Given the description of an element on the screen output the (x, y) to click on. 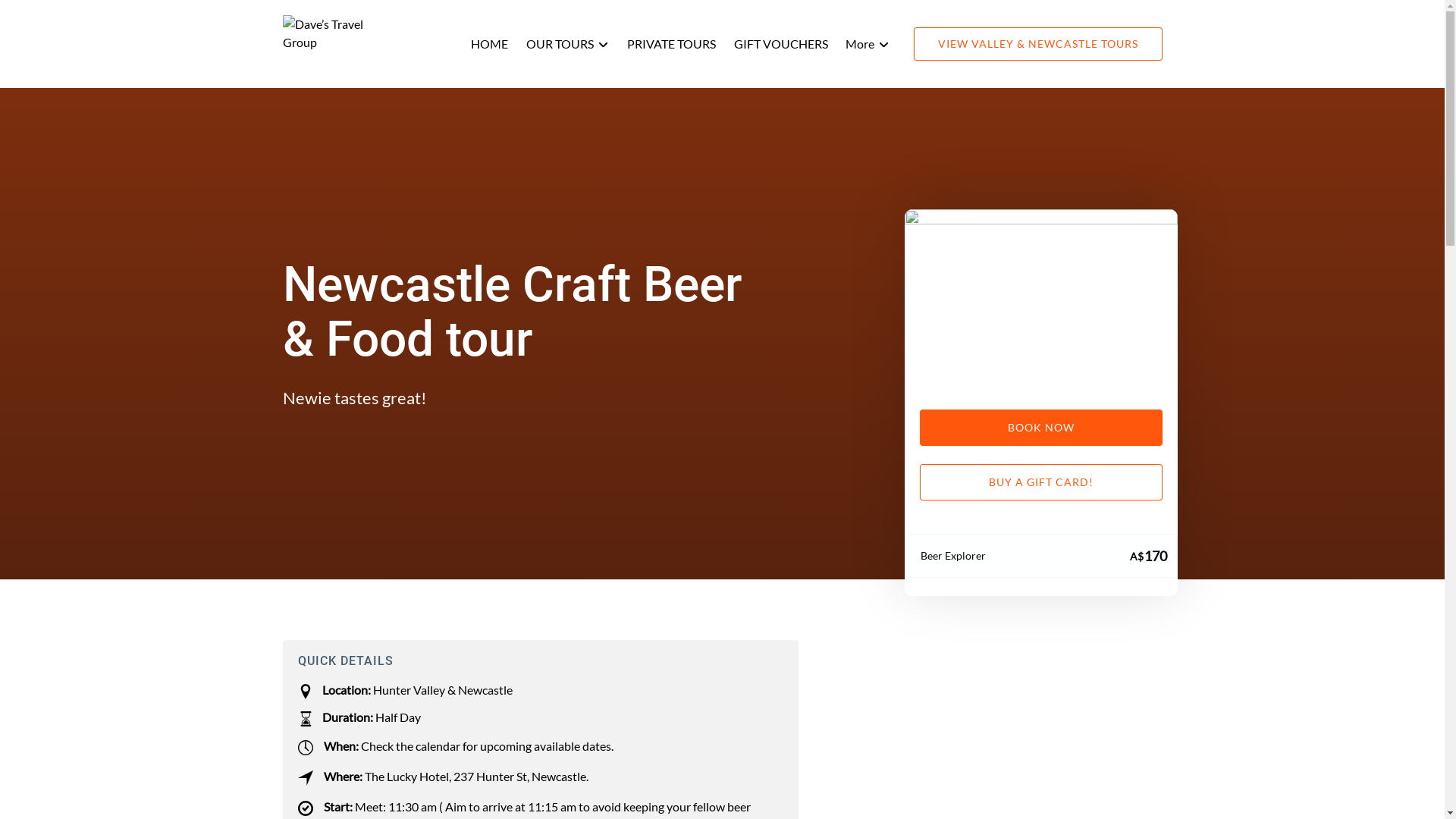
BOOK NOW Element type: text (1040, 427)
OUR TOURS Element type: text (567, 43)
GIFT VOUCHERS Element type: text (780, 43)
BUY A GIFT CARD! Element type: text (1040, 482)
Skip to content Element type: text (46, 16)
VIEW VALLEY & NEWCASTLE TOURS Element type: text (1037, 43)
PRIVATE TOURS Element type: text (670, 43)
More Element type: text (866, 43)
HOME Element type: text (488, 43)
Skip to primary navigation Element type: text (75, 16)
Skip to footer Element type: text (42, 16)
